Given the description of an element on the screen output the (x, y) to click on. 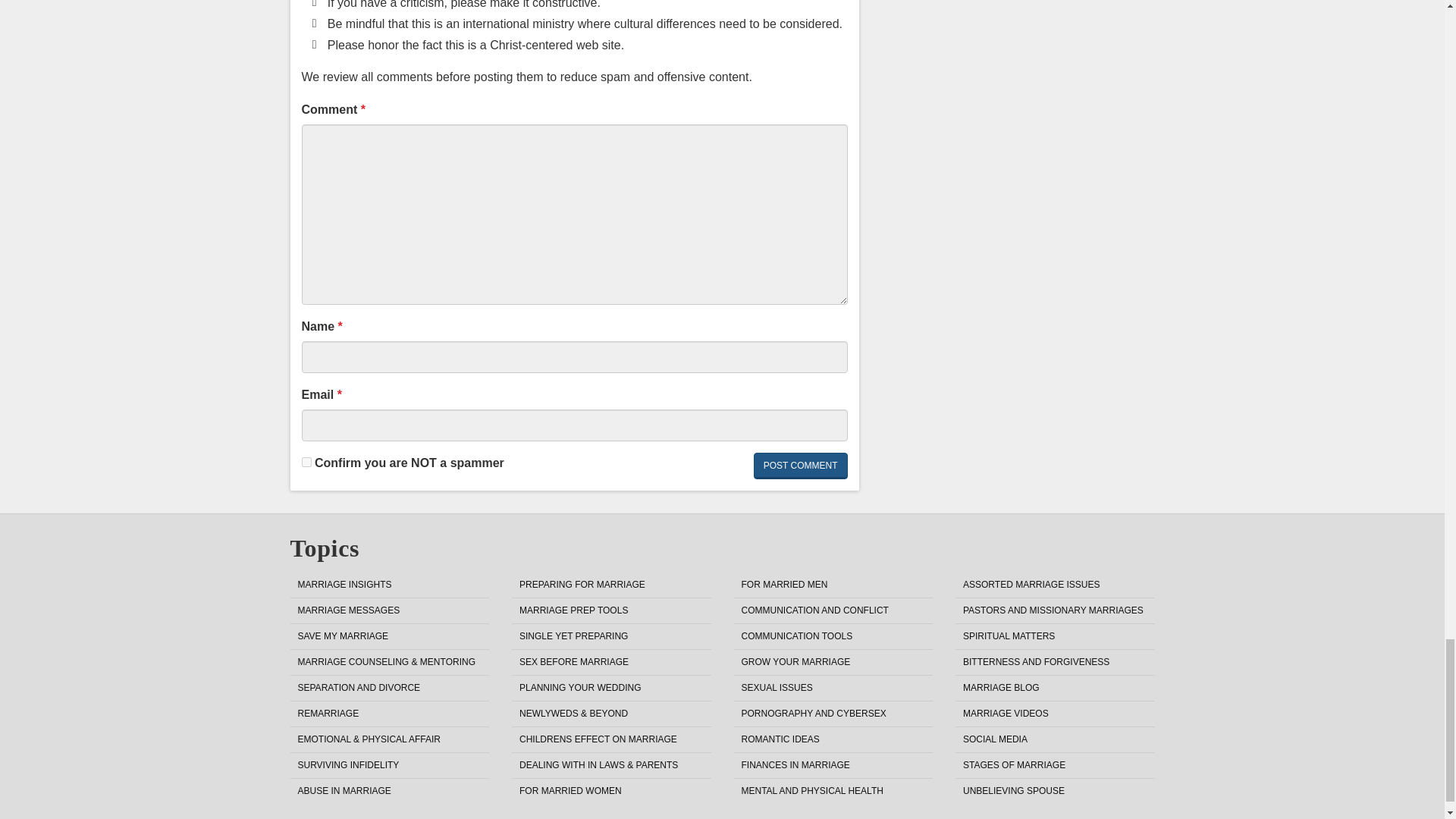
Post Comment (800, 465)
on (306, 461)
